Given the description of an element on the screen output the (x, y) to click on. 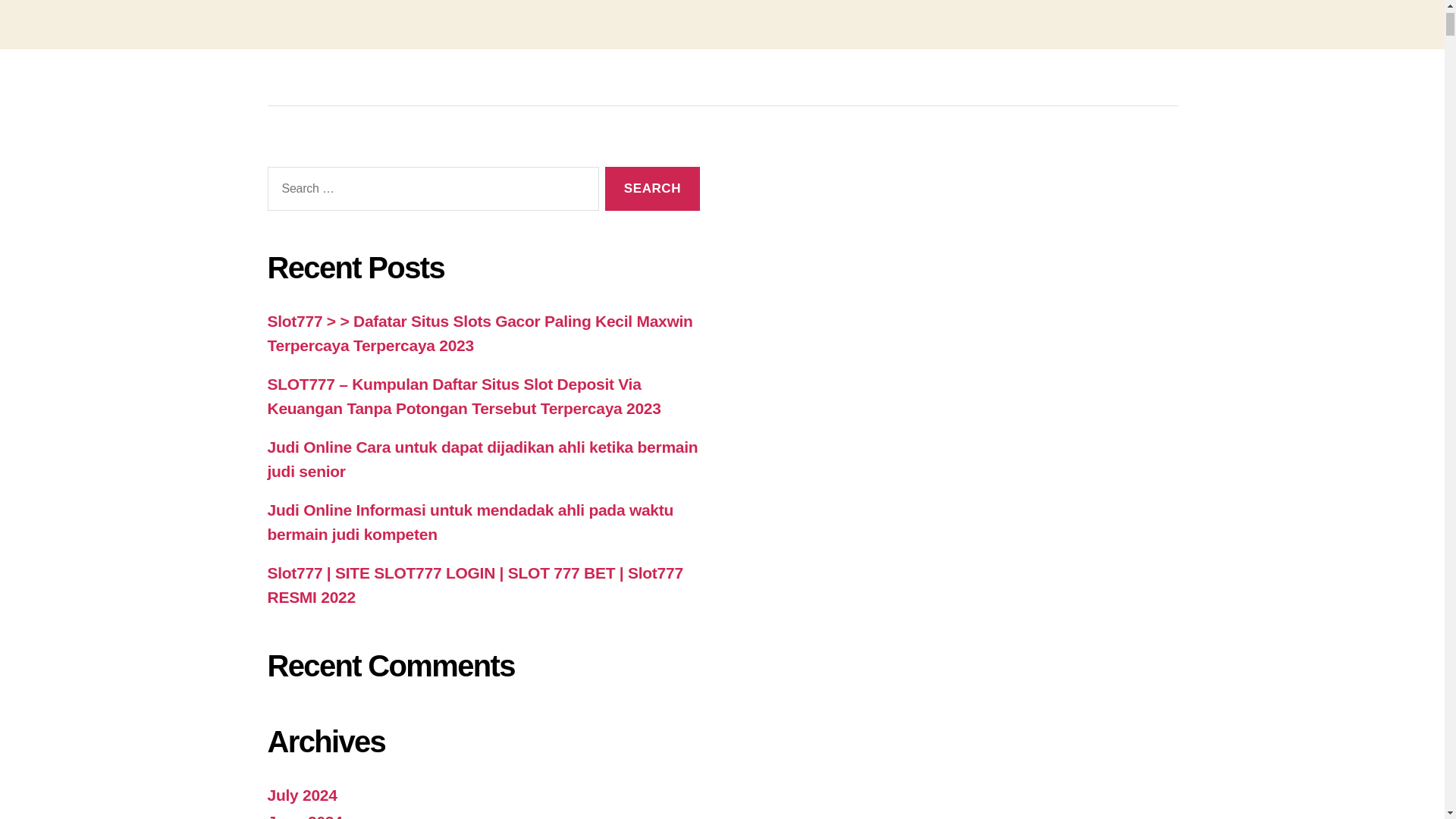
Search (651, 189)
July 2024 (301, 794)
Search (651, 189)
Search (651, 189)
June 2024 (304, 816)
